Given the description of an element on the screen output the (x, y) to click on. 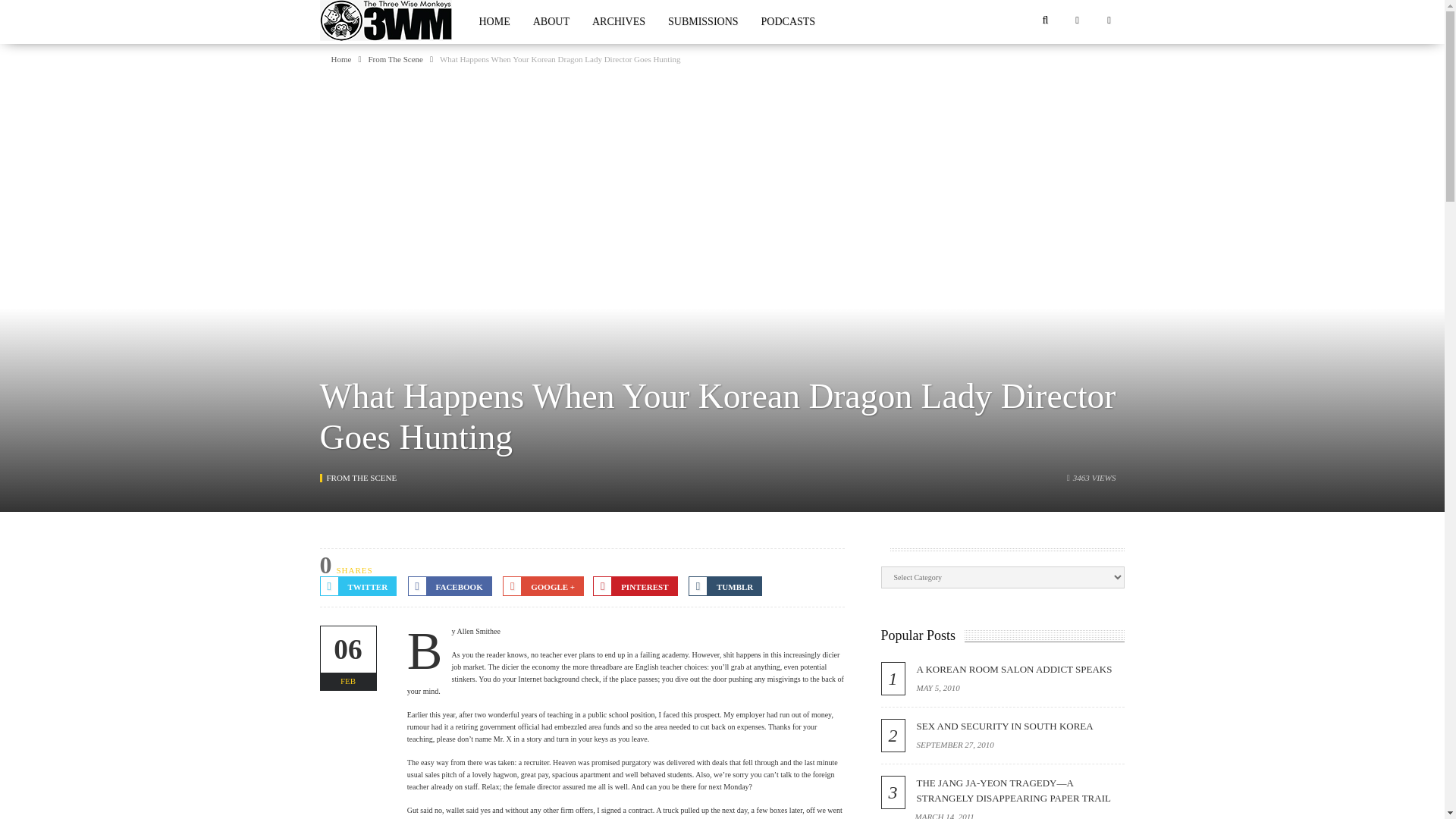
SUBMISSIONS (702, 22)
TUMBLR (724, 586)
Home (340, 58)
Home (340, 58)
PODCASTS (788, 22)
From the Scene (361, 477)
From The Scene (395, 58)
PINTEREST (634, 586)
TWITTER (358, 586)
ARCHIVES (618, 22)
